Given the description of an element on the screen output the (x, y) to click on. 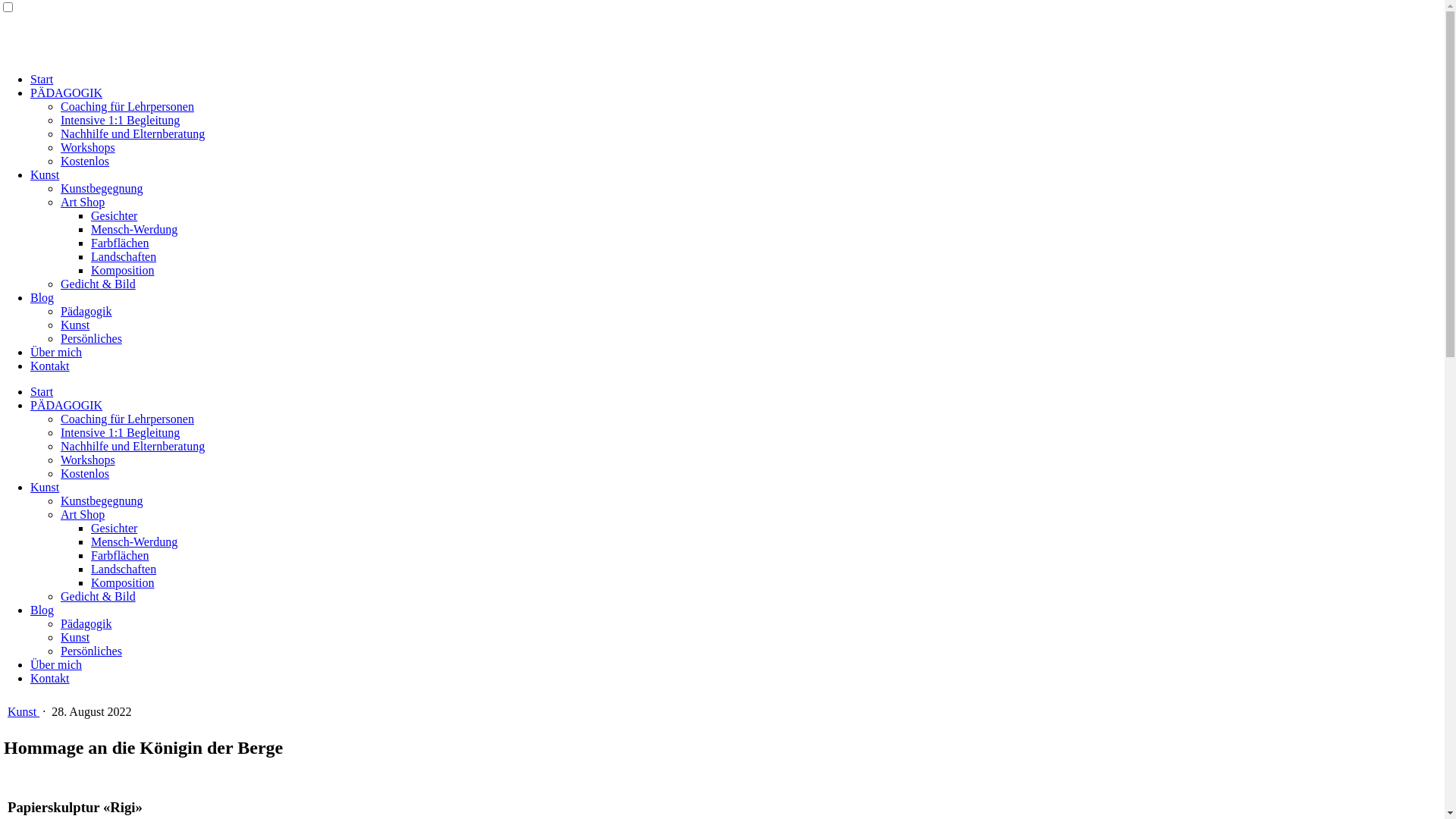
Kunstbegegnung Element type: text (101, 500)
Mensch-Werdung Element type: text (134, 541)
Kunst Element type: text (44, 174)
Kunst Element type: text (74, 636)
Kunst Element type: text (74, 324)
Art Shop Element type: text (82, 201)
Intensive 1:1 Begleitung Element type: text (119, 119)
Nachhilfe und Elternberatung Element type: text (132, 445)
Kunst Element type: text (23, 711)
Komposition Element type: text (122, 582)
Gedicht & Bild Element type: text (97, 283)
Gedicht & Bild Element type: text (97, 595)
Gesichter Element type: text (114, 527)
Blog Element type: text (41, 297)
Start Element type: text (41, 391)
Mensch-Werdung Element type: text (134, 228)
Komposition Element type: text (122, 269)
Landschaften Element type: text (123, 256)
Workshops Element type: text (87, 459)
Art Shop Element type: text (82, 514)
Kunstbegegnung Element type: text (101, 188)
Kostenlos Element type: text (84, 473)
Blog Element type: text (41, 609)
Gesichter Element type: text (114, 215)
Kontakt Element type: text (49, 677)
Kontakt Element type: text (49, 365)
Nachhilfe und Elternberatung Element type: text (132, 133)
Workshops Element type: text (87, 147)
Landschaften Element type: text (123, 568)
Kostenlos Element type: text (84, 160)
Intensive 1:1 Begleitung Element type: text (119, 432)
Kunst Element type: text (44, 486)
Start Element type: text (41, 78)
